Given the description of an element on the screen output the (x, y) to click on. 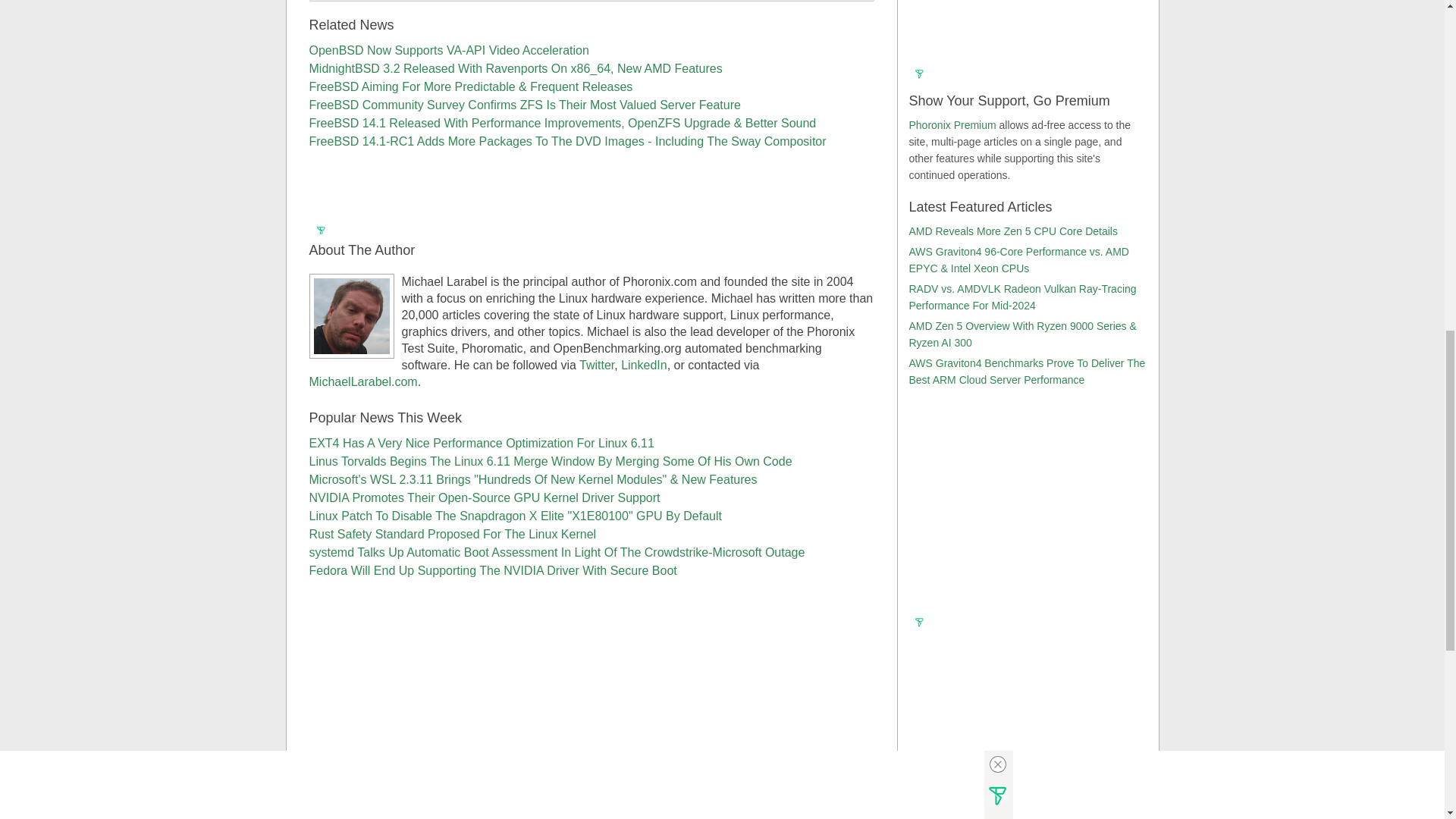
3rd party ad content (1026, 730)
OpenBSD Now Supports VA-API Video Acceleration (448, 50)
3rd party ad content (1026, 518)
3rd party ad content (1026, 32)
3rd party ad content (591, 187)
